Given the description of an element on the screen output the (x, y) to click on. 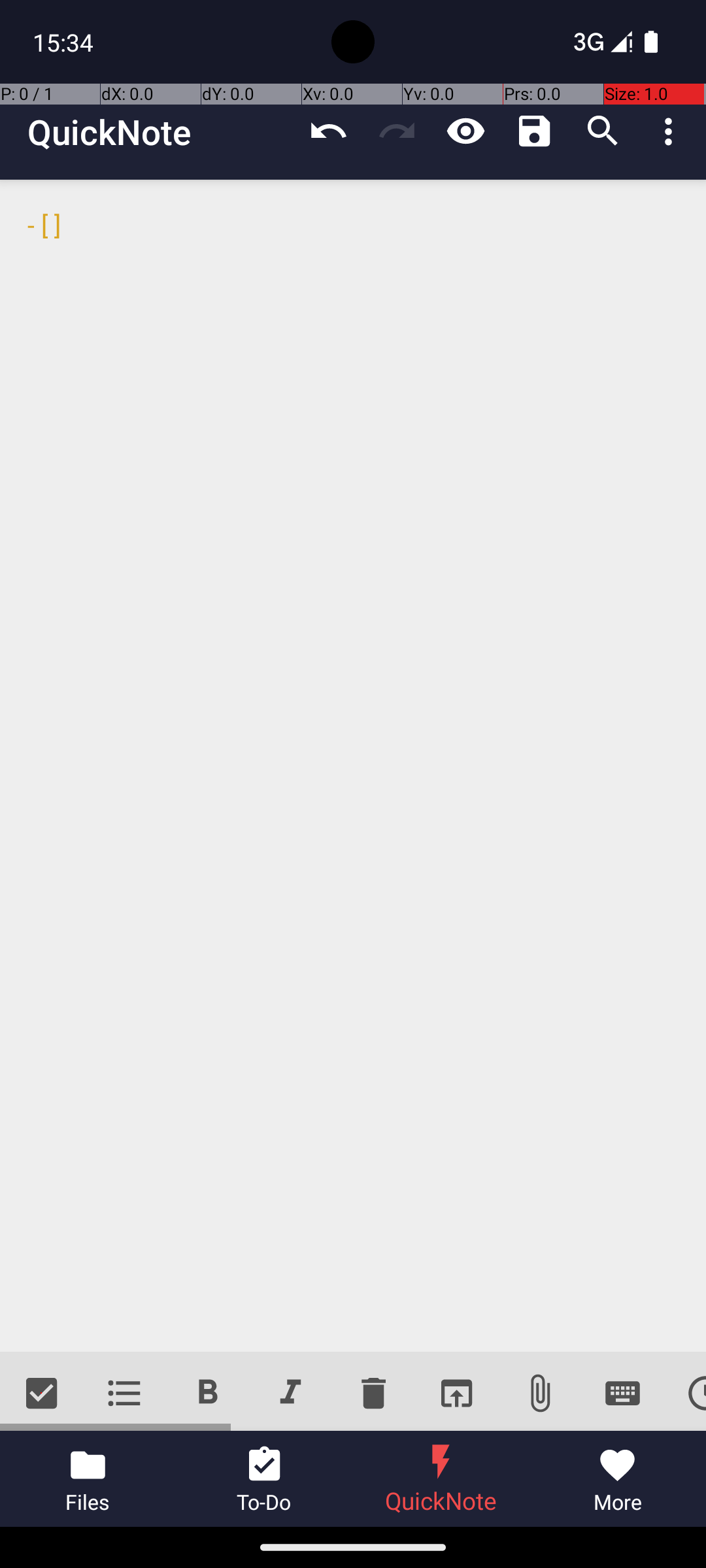
- [ ]  Element type: android.widget.EditText (353, 765)
